Given the description of an element on the screen output the (x, y) to click on. 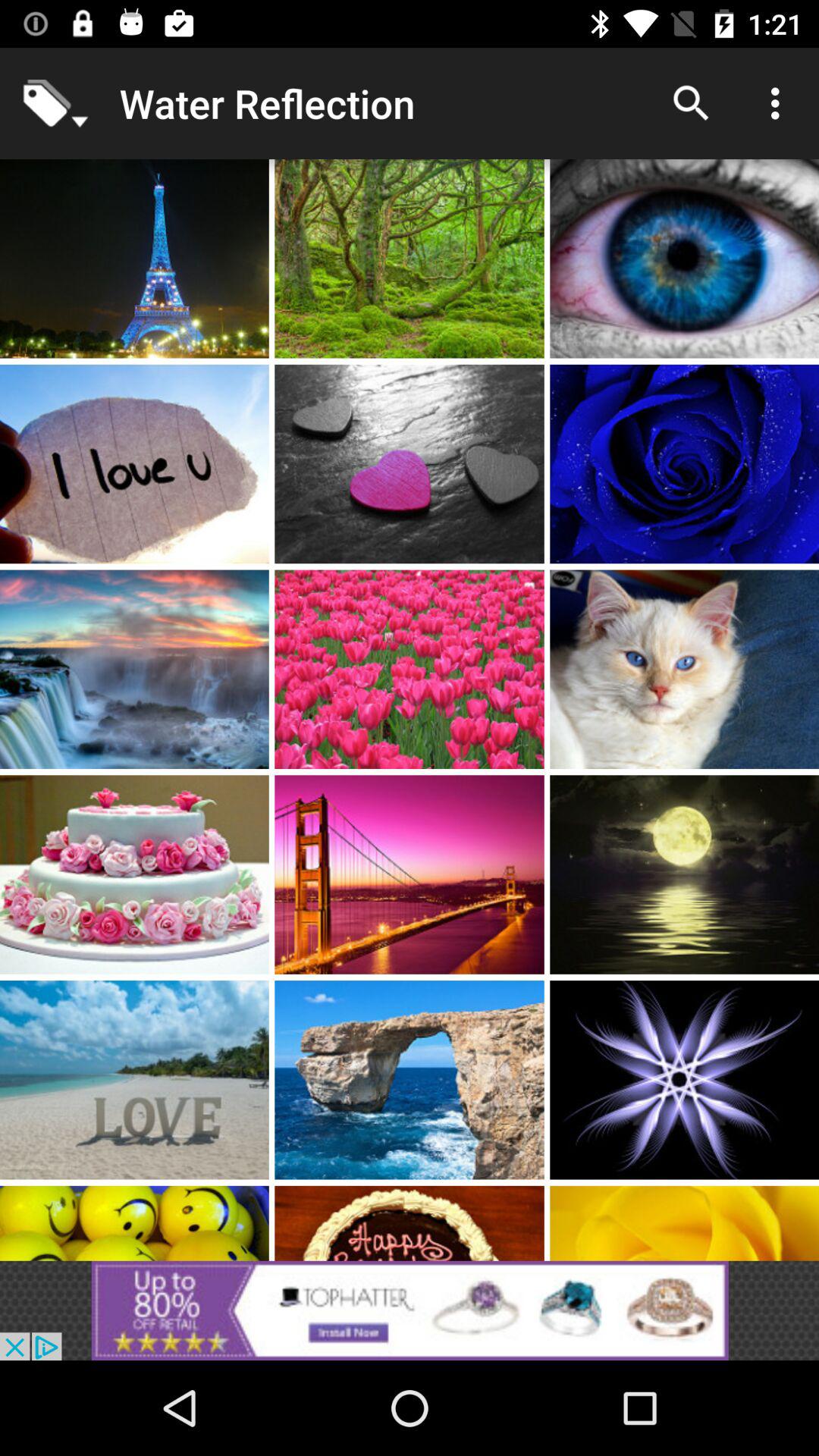
click on this advertisement (409, 1310)
